Given the description of an element on the screen output the (x, y) to click on. 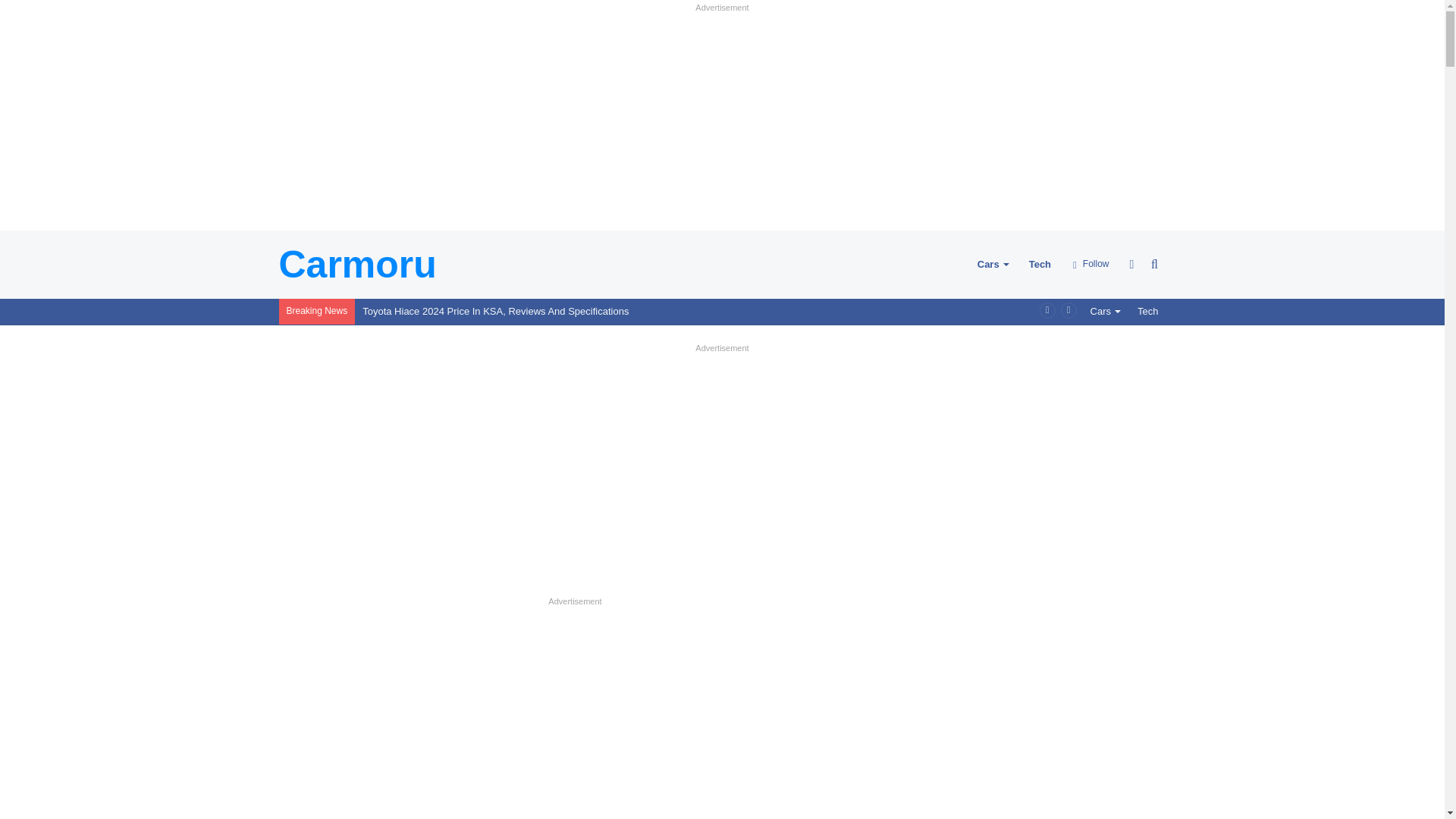
Cars (1106, 311)
Carmoru (357, 264)
Toyota Hiace 2024 Price In KSA, Reviews And Specifications (495, 310)
Advertisement (575, 715)
Carmoru (357, 264)
